Given the description of an element on the screen output the (x, y) to click on. 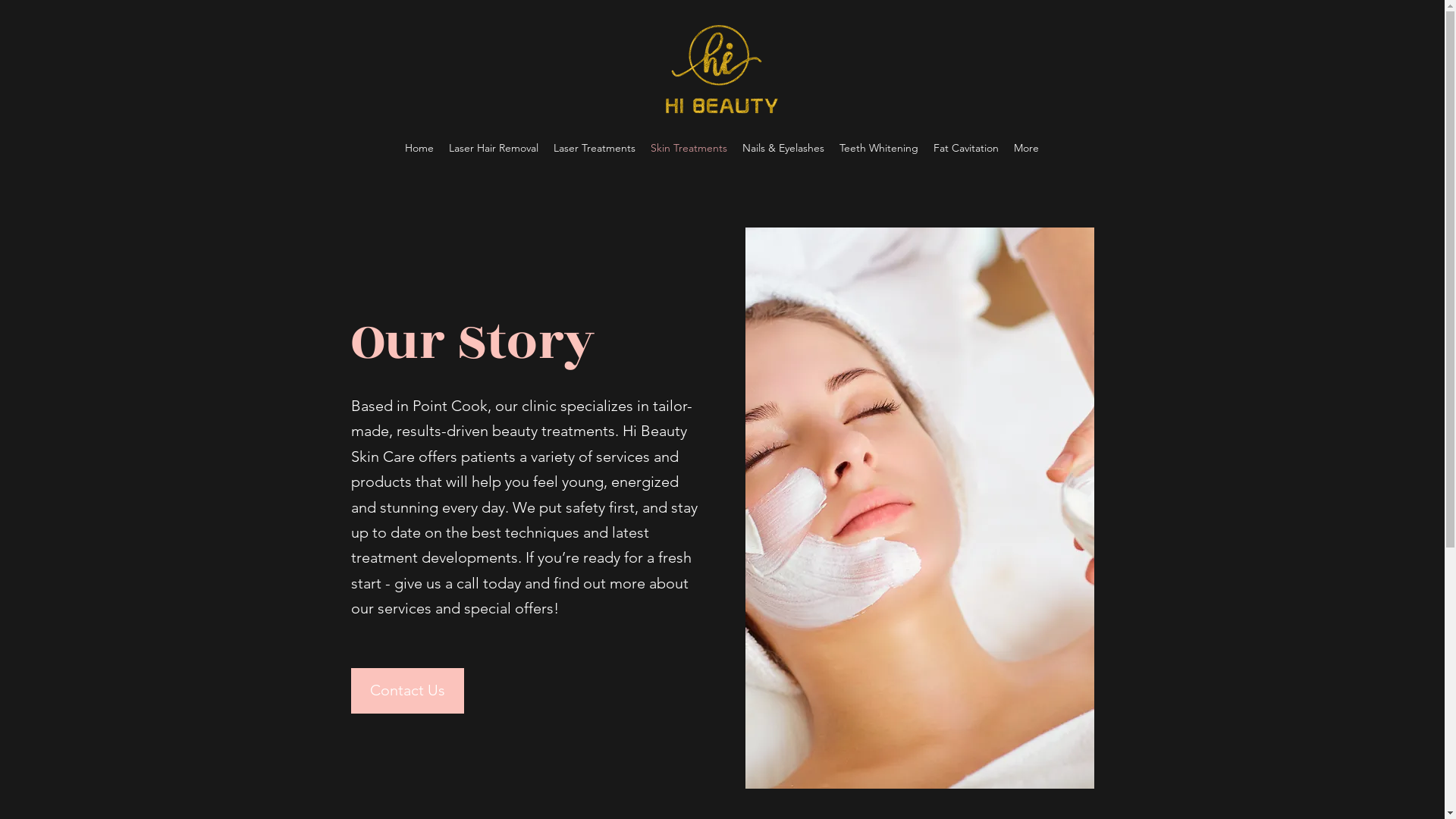
Laser Treatments Element type: text (594, 147)
Fat Cavitation Element type: text (965, 147)
Nails & Eyelashes Element type: text (782, 147)
Teeth Whitening Element type: text (878, 147)
Skin Treatments Element type: text (688, 147)
Laser Hair Removal Element type: text (493, 147)
Home Element type: text (419, 147)
